Given the description of an element on the screen output the (x, y) to click on. 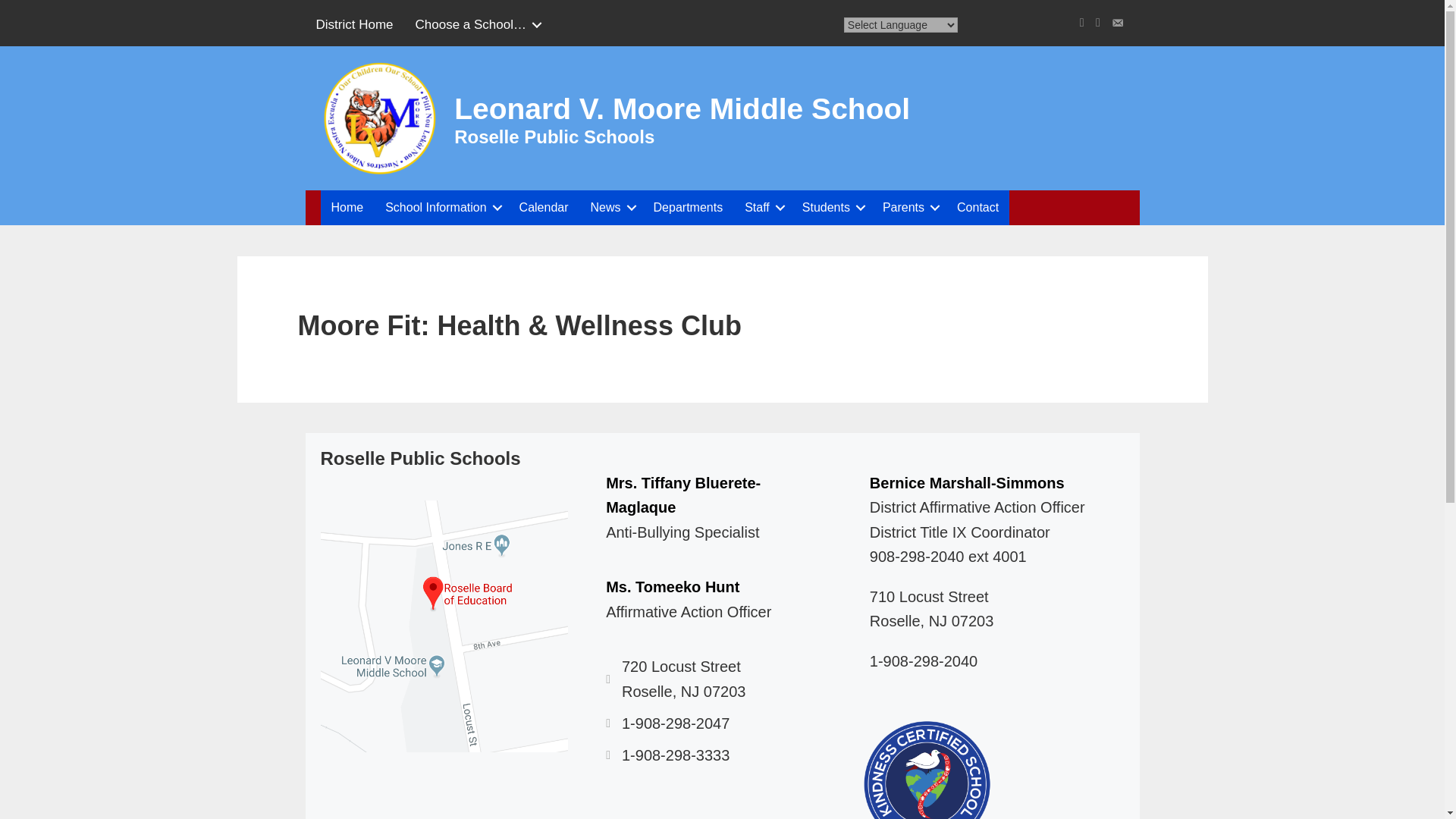
Departments (688, 207)
Leonard V. Moore Middle School (682, 108)
News (610, 207)
District Home (353, 24)
Home (347, 207)
School Information (440, 207)
Calendar (543, 207)
